Given the description of an element on the screen output the (x, y) to click on. 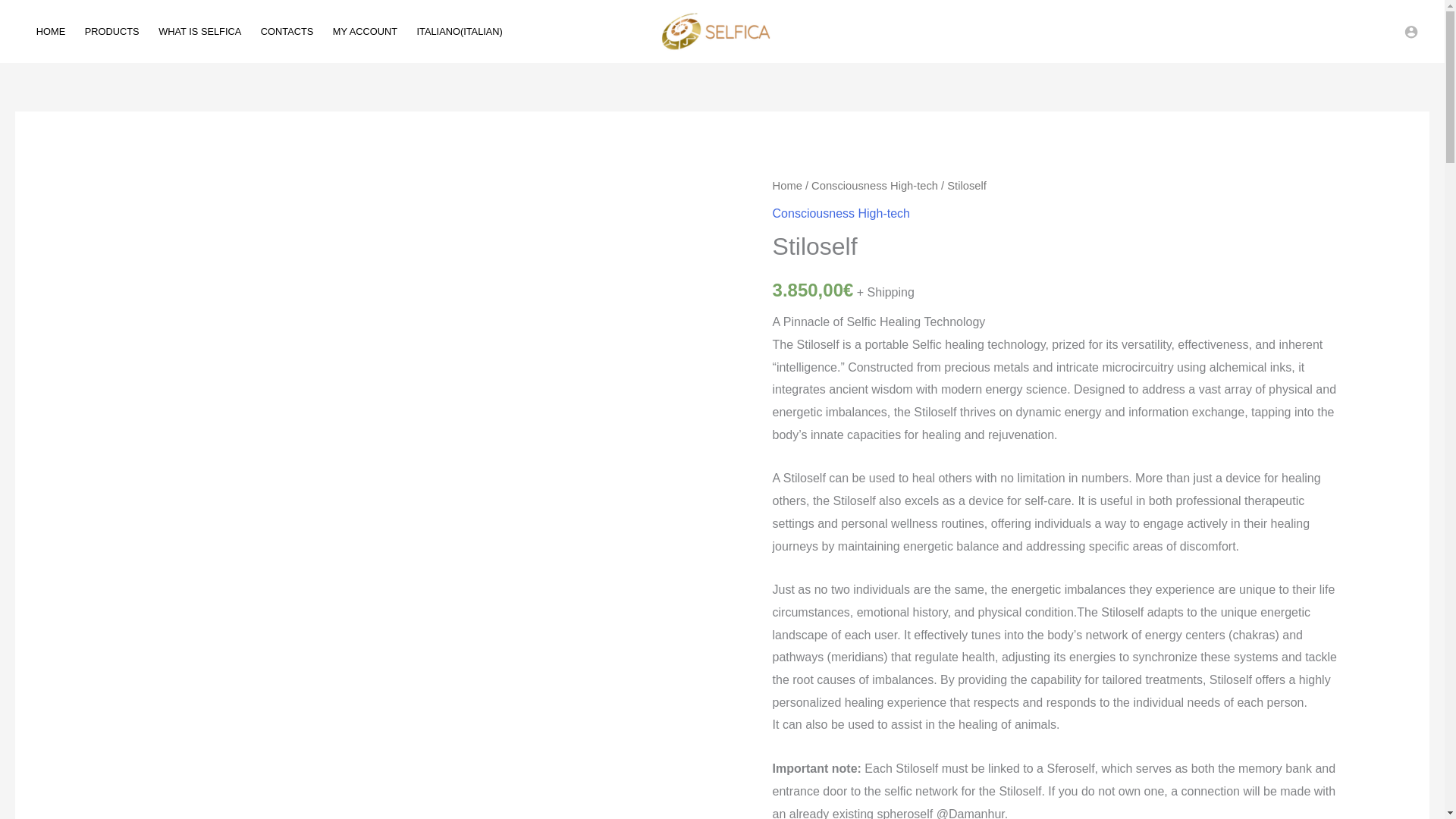
HOME (50, 30)
CONTACTS (286, 30)
MY ACCOUNT (365, 30)
WHAT IS SELFICA (199, 30)
PRODUCTS (111, 30)
Italian (459, 30)
